Given the description of an element on the screen output the (x, y) to click on. 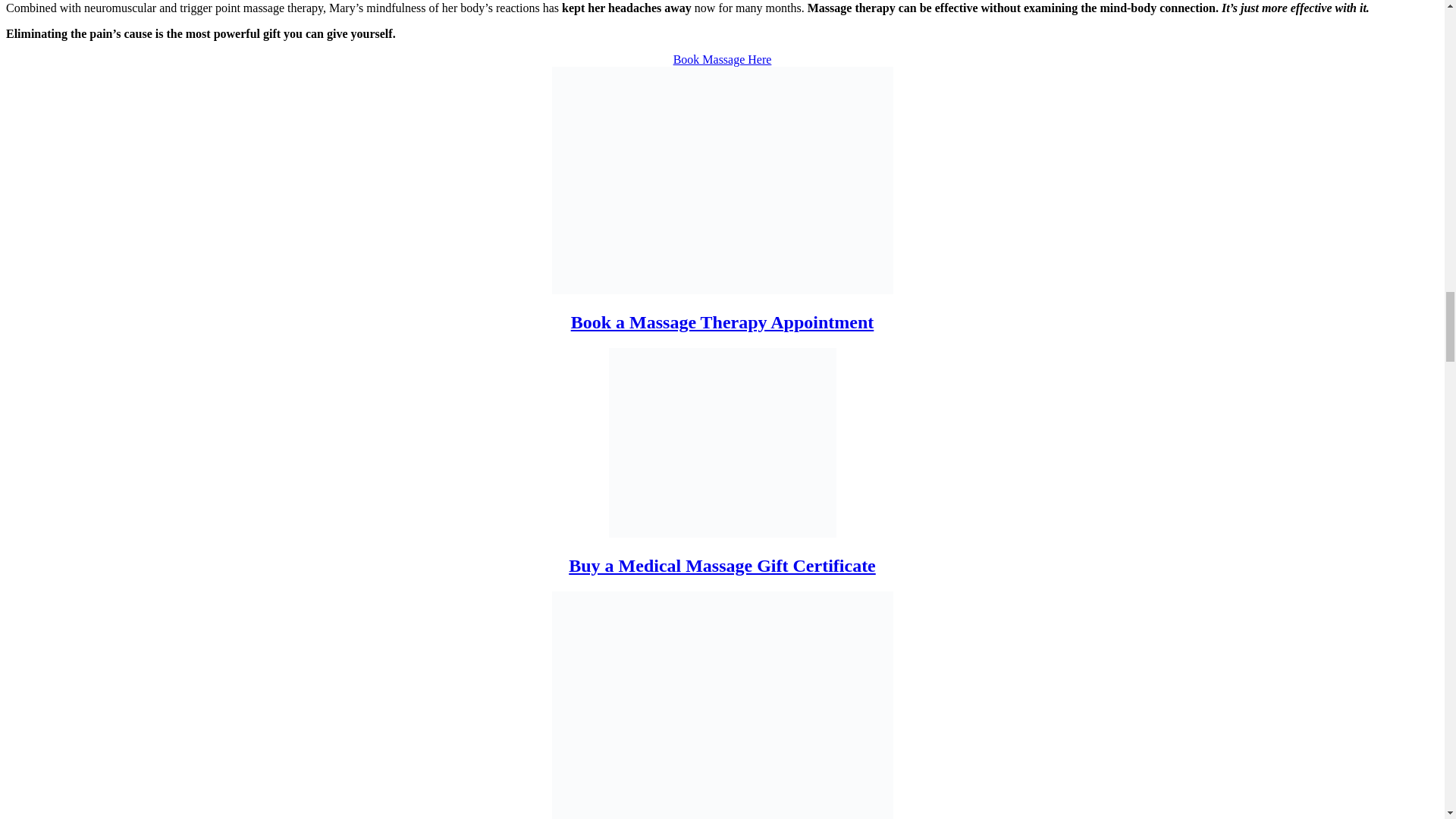
Book Massage Here (721, 59)
Book a Massage Therapy Appointment (722, 322)
Buy a Medical Massage Gift Certificate (722, 565)
